Given the description of an element on the screen output the (x, y) to click on. 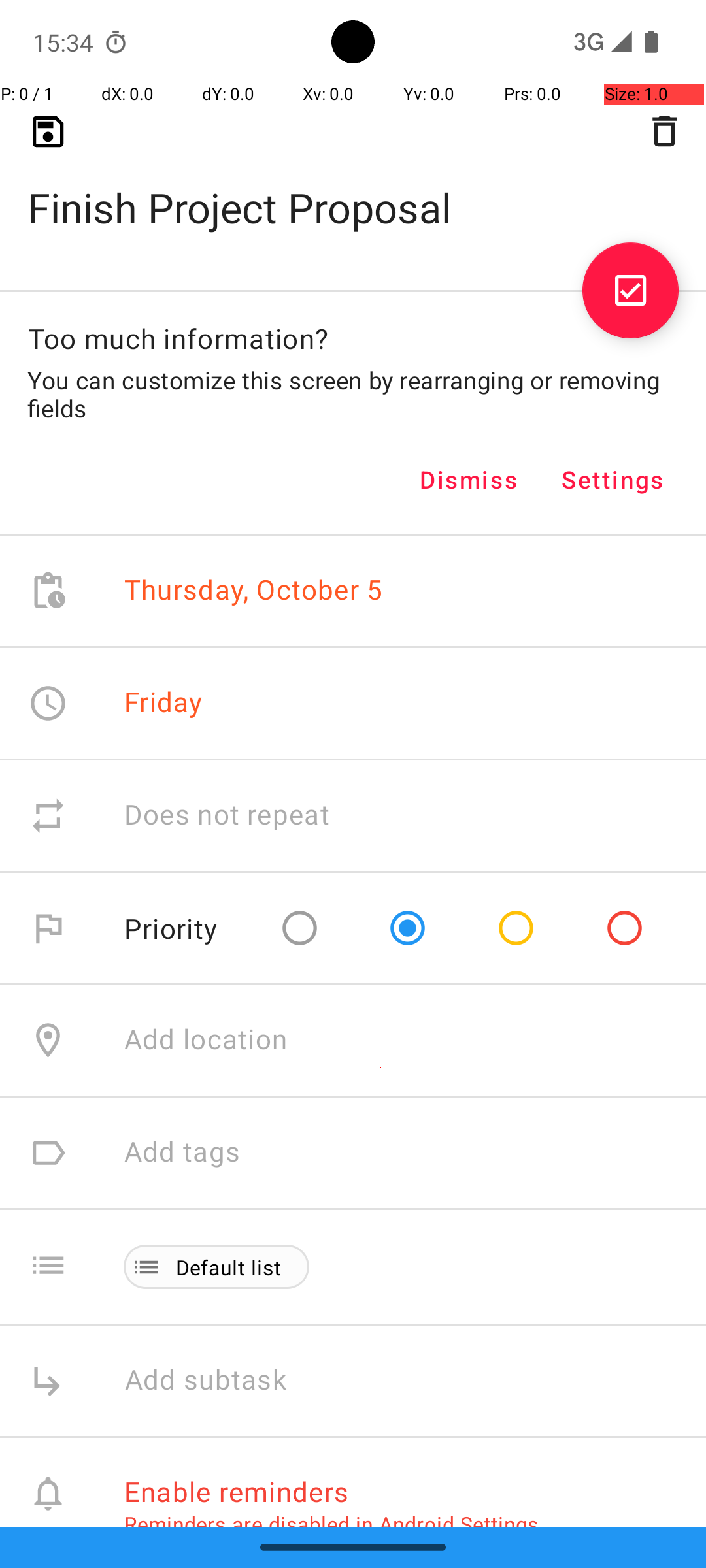
Thursday, October 5 Element type: android.widget.TextView (253, 590)
